Given the description of an element on the screen output the (x, y) to click on. 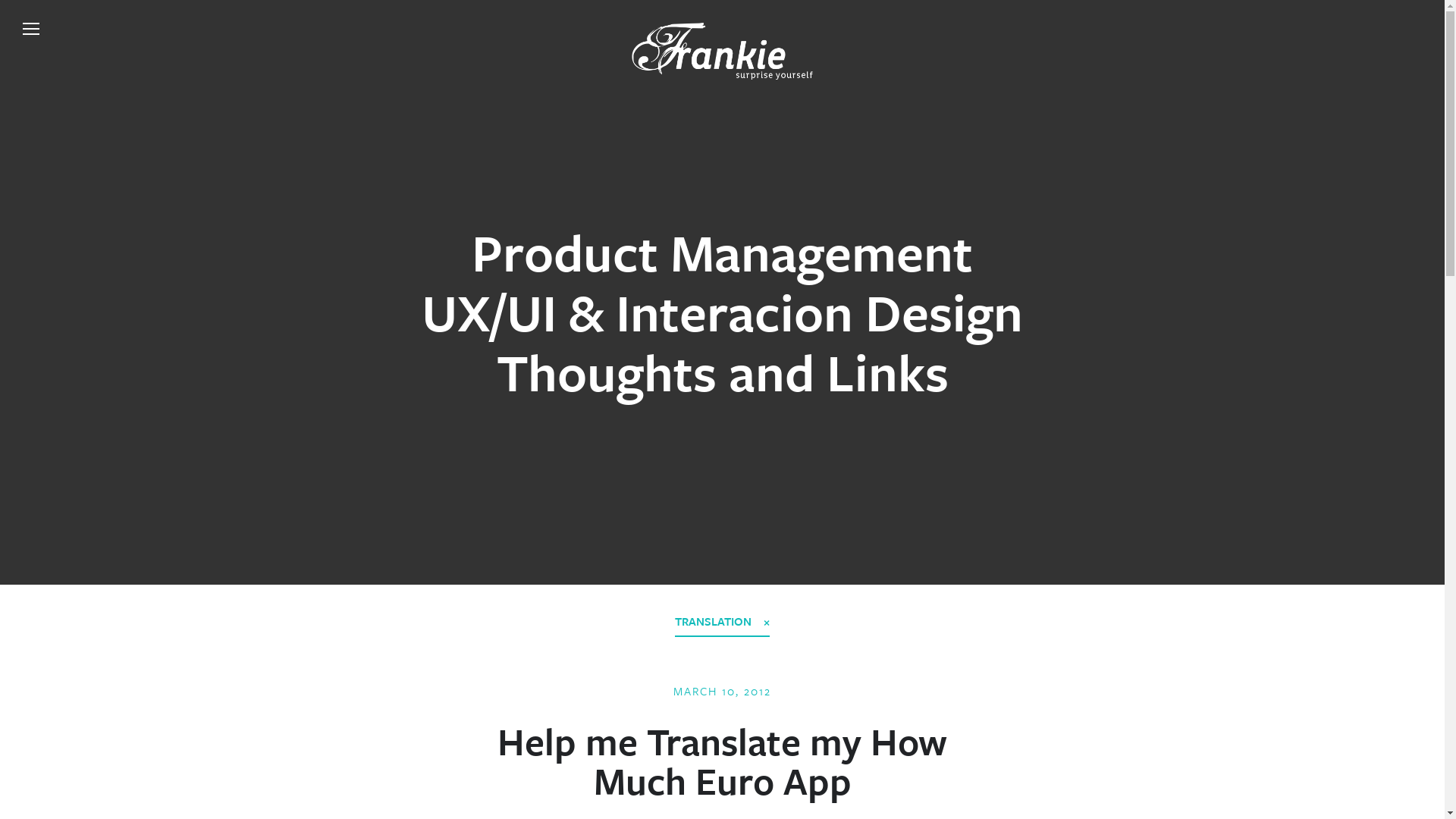
MARCH 10, 2012 Element type: text (722, 690)
Help me Translate my How Much Euro App Element type: text (722, 760)
TRANSLATION Element type: text (721, 621)
